Given the description of an element on the screen output the (x, y) to click on. 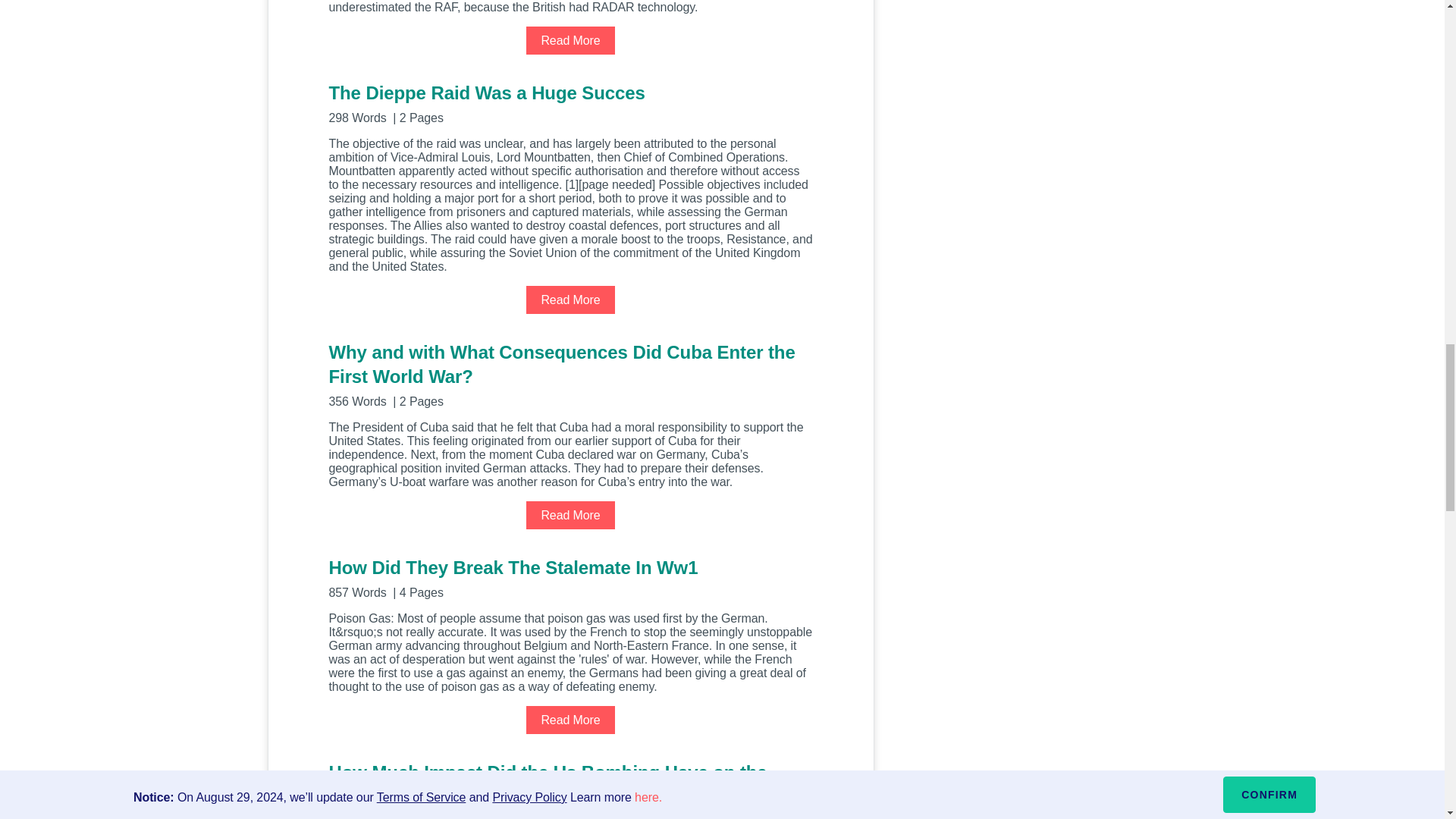
The Dieppe Raid Was a Huge Succes (570, 102)
Read More (569, 40)
Read More (569, 515)
Read More (569, 719)
Read More (569, 299)
How Did They Break The Stalemate In Ww1 (570, 577)
